Given the description of an element on the screen output the (x, y) to click on. 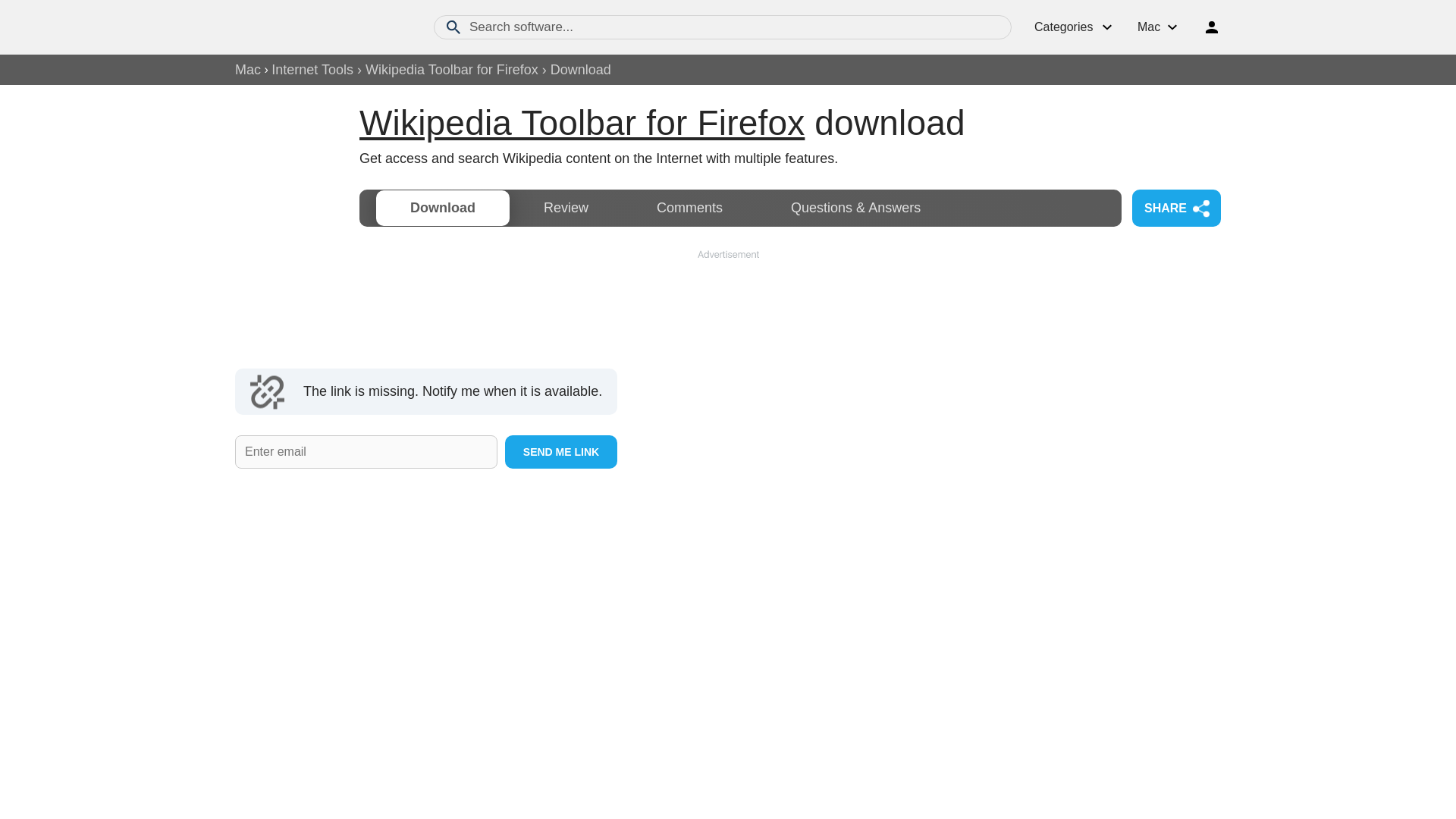
Wikipedia Toolbar for Firefox info (582, 122)
Search (453, 27)
Search software... (722, 27)
Review (566, 208)
Download (442, 208)
Advertisement (727, 300)
Wikipedia Toolbar for Firefox (451, 69)
Software downloads and reviews (318, 26)
SHARE (1176, 207)
Internet Tools (311, 69)
Download (442, 208)
Wikipedia Toolbar for Firefox (582, 122)
